Given the description of an element on the screen output the (x, y) to click on. 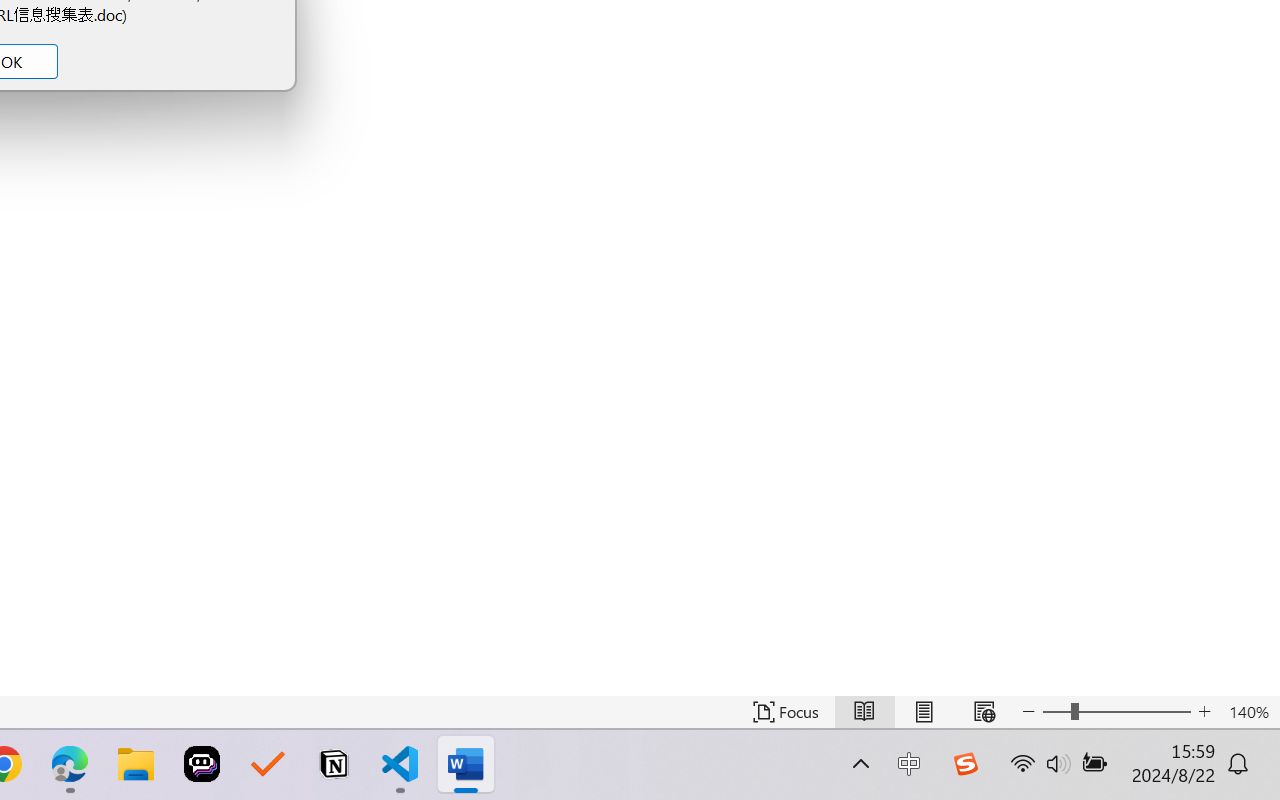
Text Size (1116, 712)
